Given the description of an element on the screen output the (x, y) to click on. 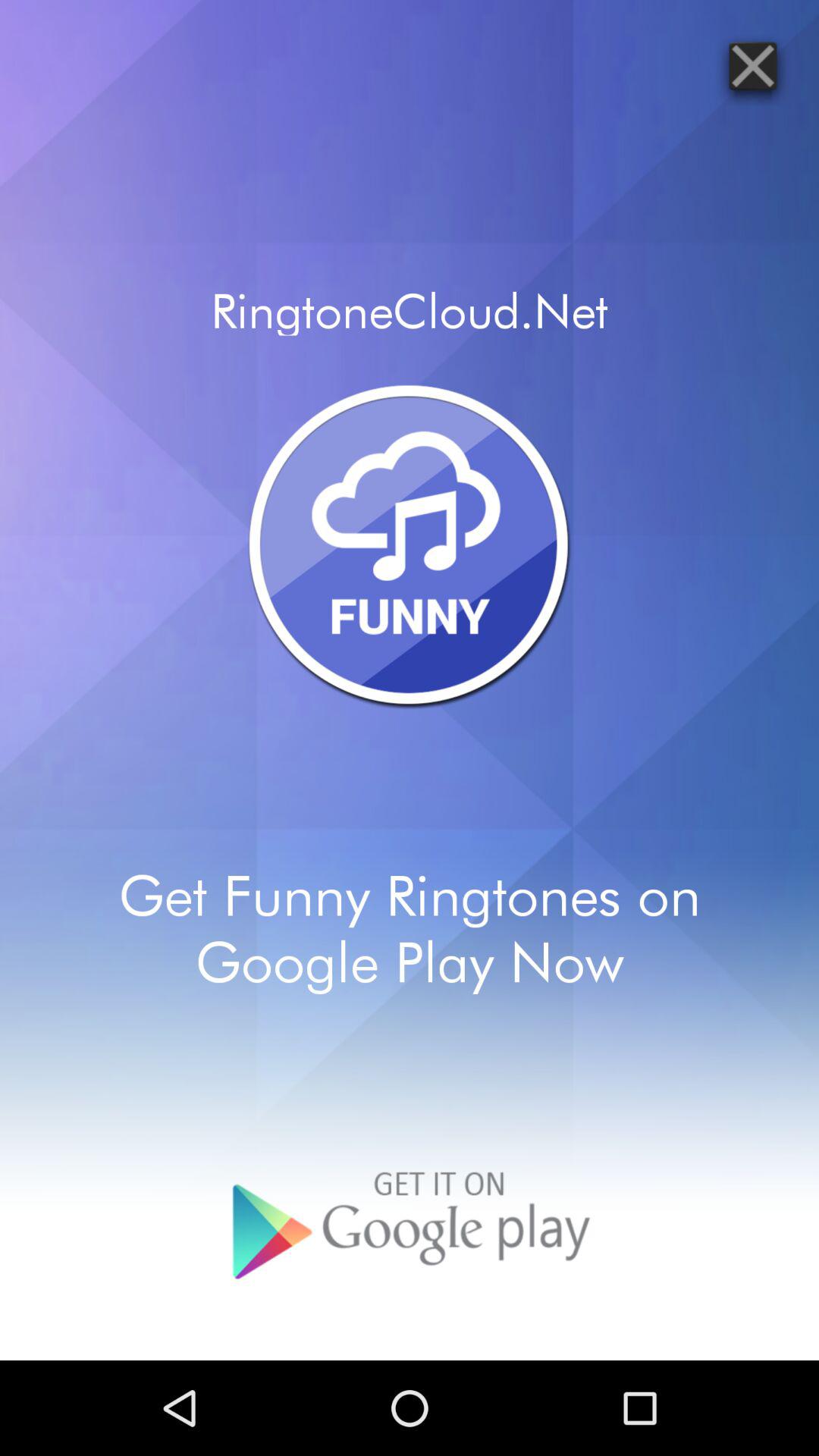
close advertisement (752, 65)
